Given the description of an element on the screen output the (x, y) to click on. 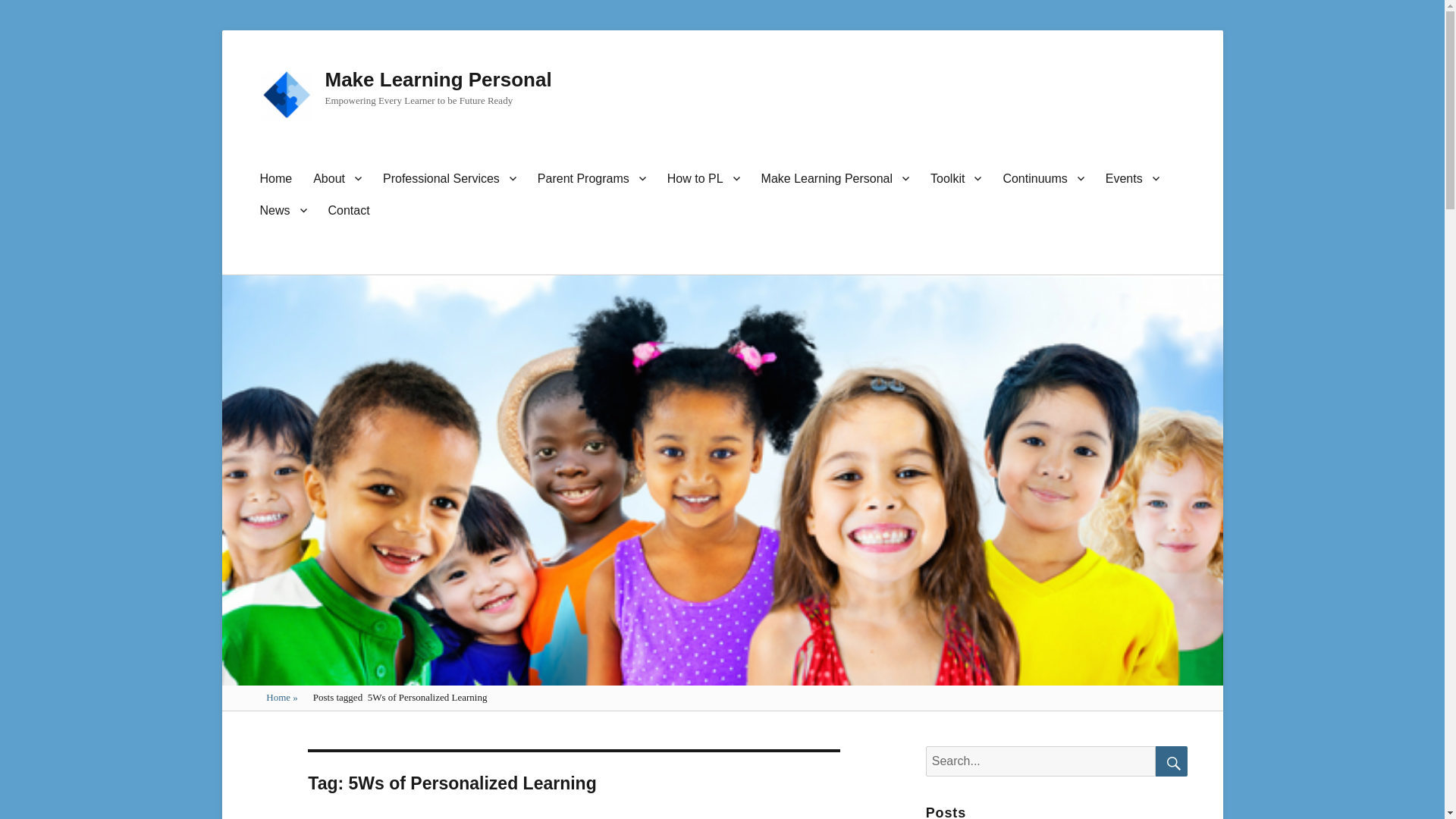
How to PL (703, 178)
Make Learning Personal (437, 78)
Search for: (1041, 761)
Toolkit (955, 178)
Professional Services (449, 178)
About (337, 178)
Home (275, 178)
Continuums (1042, 178)
Make Learning Personal (835, 178)
Parent Programs (591, 178)
